Given the description of an element on the screen output the (x, y) to click on. 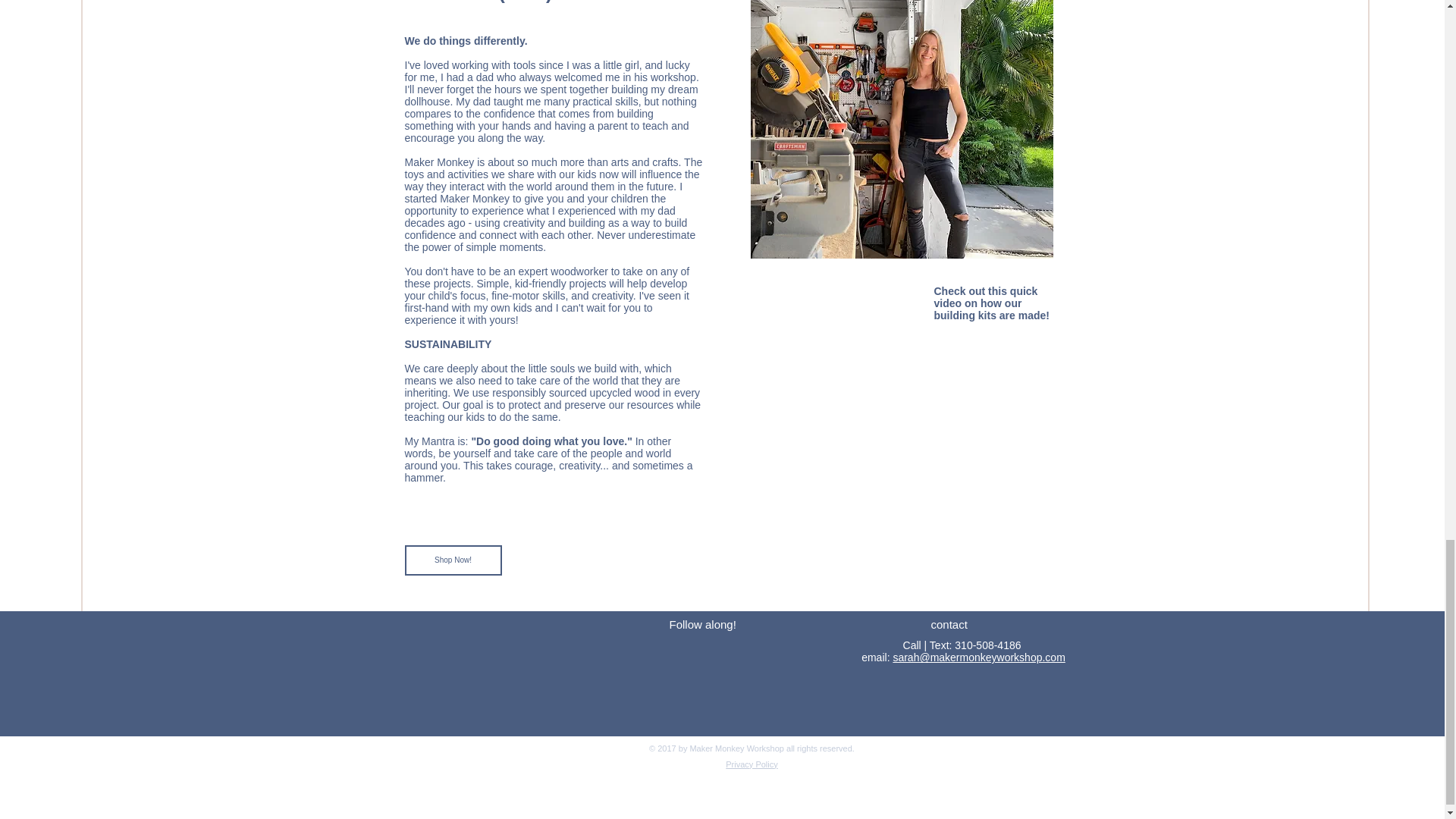
Garage Worksop a.k.a My She Shed! (901, 129)
Privacy Policy (751, 764)
Shop Now! (453, 560)
